Given the description of an element on the screen output the (x, y) to click on. 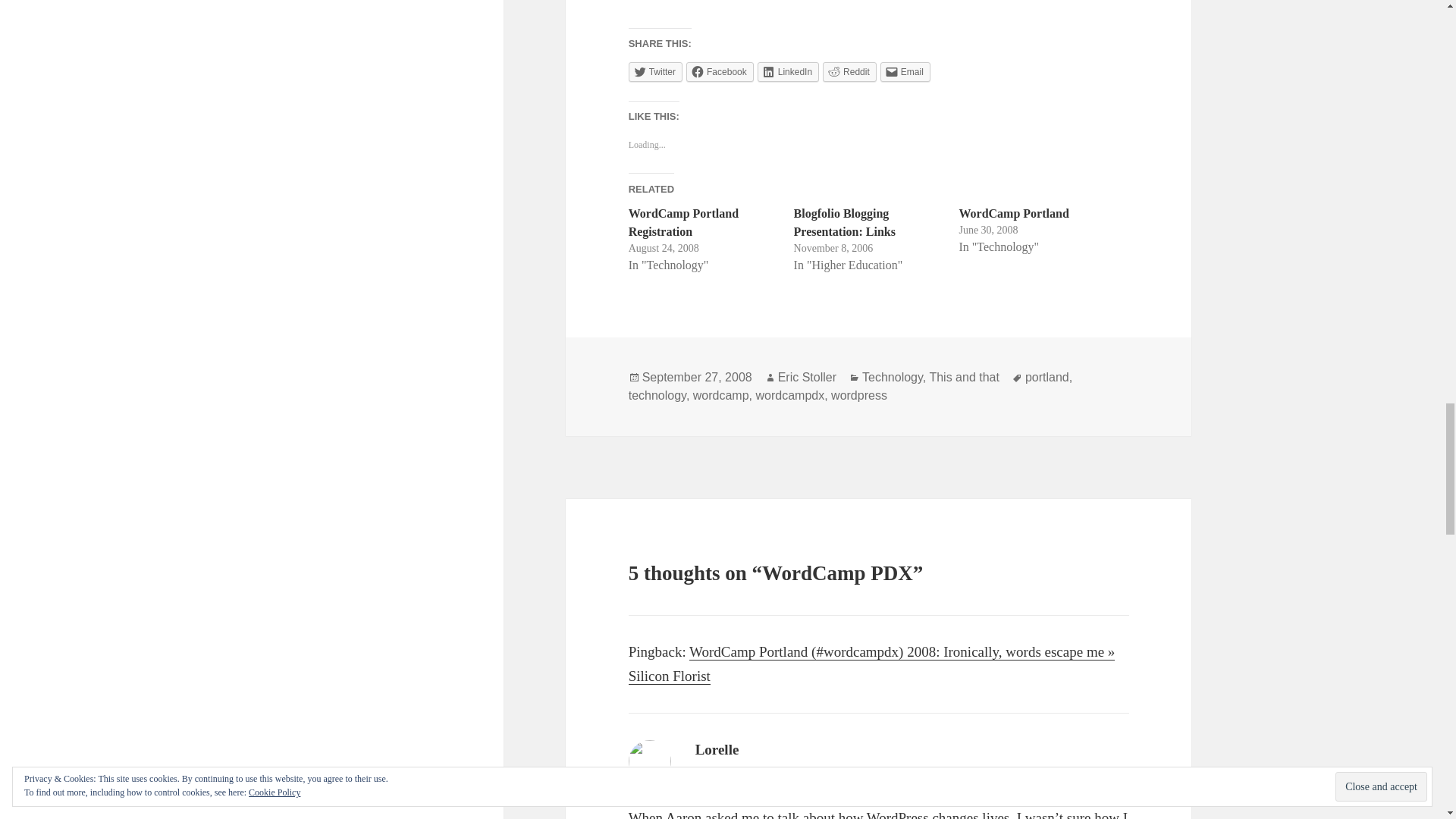
WordCamp Portland Registration (683, 222)
Blogfolio Blogging Presentation: Links (844, 222)
WordCamp Portland (1013, 213)
Click to share on Facebook (719, 71)
Click to share on Reddit (849, 71)
Click to email a link to a friend (905, 71)
Click to share on Twitter (655, 71)
Click to share on LinkedIn (787, 71)
